Given the description of an element on the screen output the (x, y) to click on. 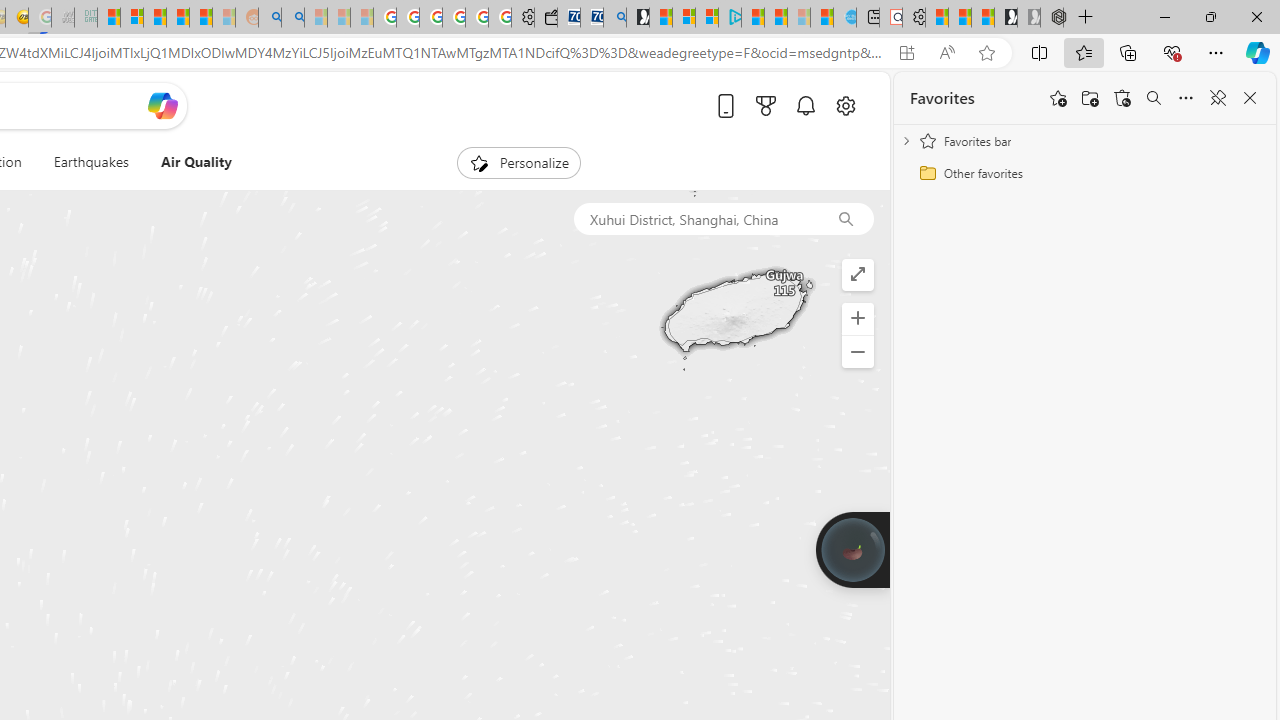
Add this page to favorites (1058, 98)
Join us in planting real trees to help our planet! (852, 549)
Wallet (545, 17)
Personalize (517, 162)
Zoom in (858, 318)
